Given the description of an element on the screen output the (x, y) to click on. 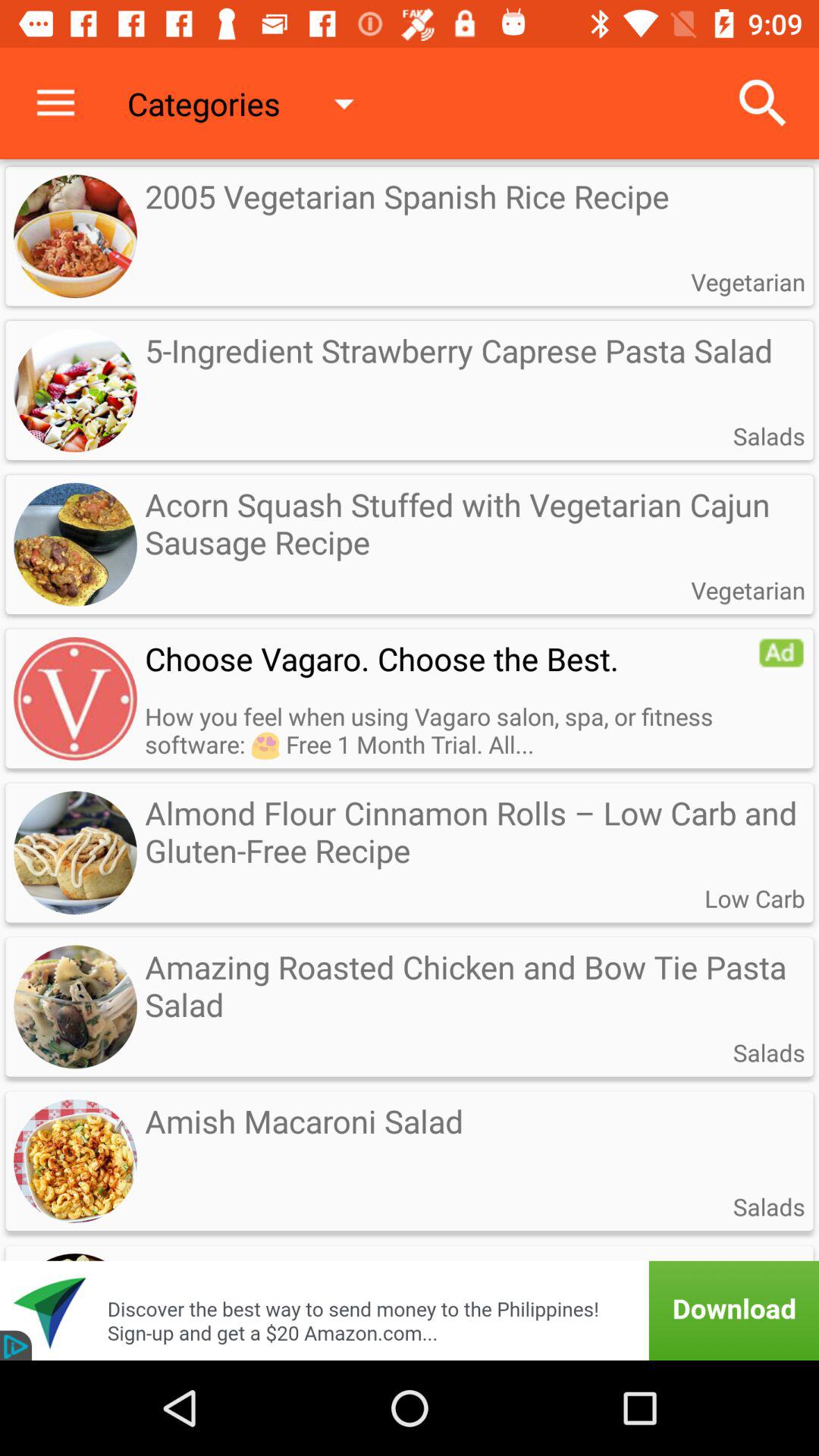
download the app (409, 1290)
